Given the description of an element on the screen output the (x, y) to click on. 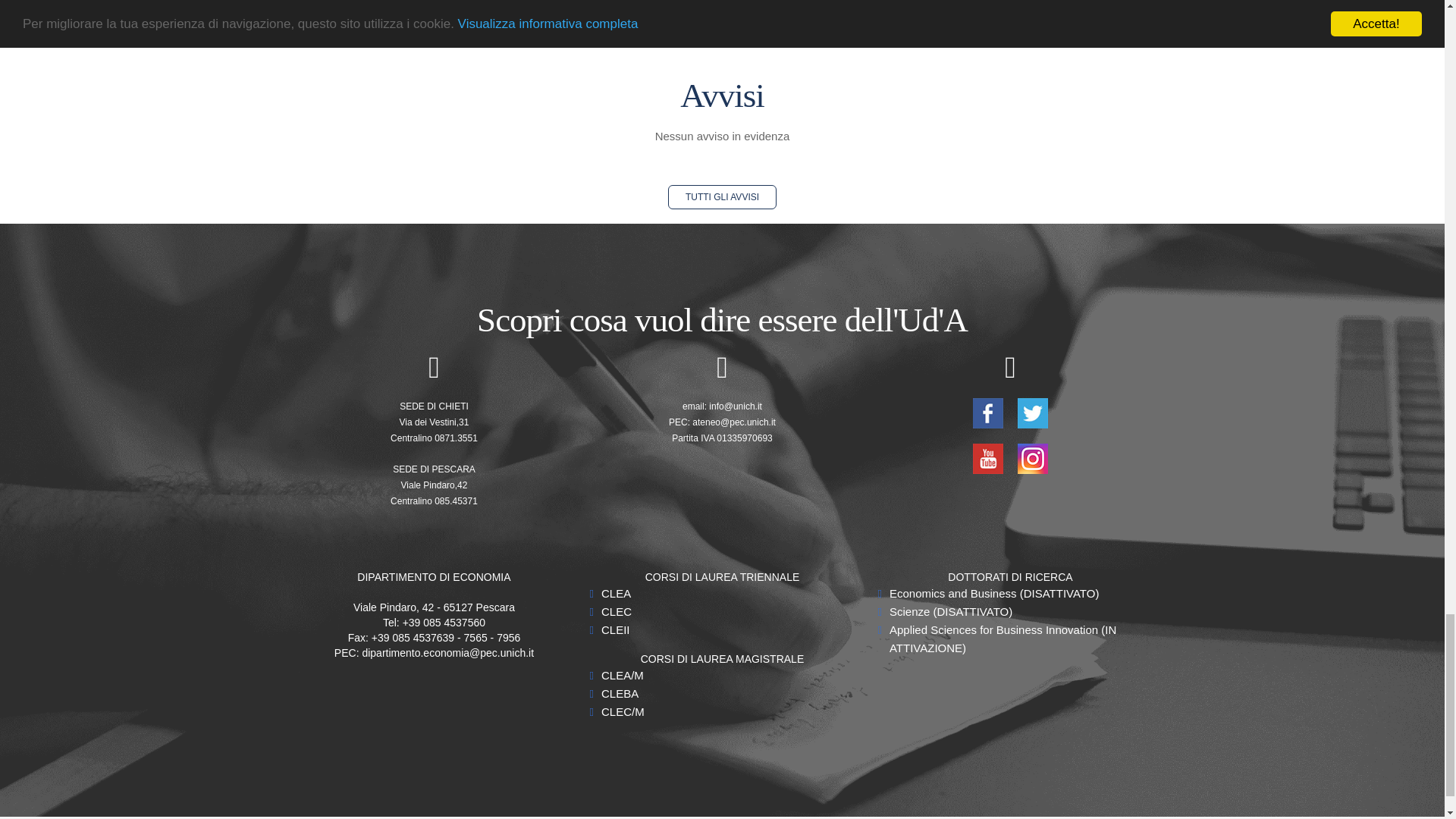
Facebook (989, 411)
CLEII (615, 629)
Youtube (989, 457)
CLEC (616, 611)
Instagram (1032, 457)
CLEA (615, 593)
Twitter (1032, 411)
